Given the description of an element on the screen output the (x, y) to click on. 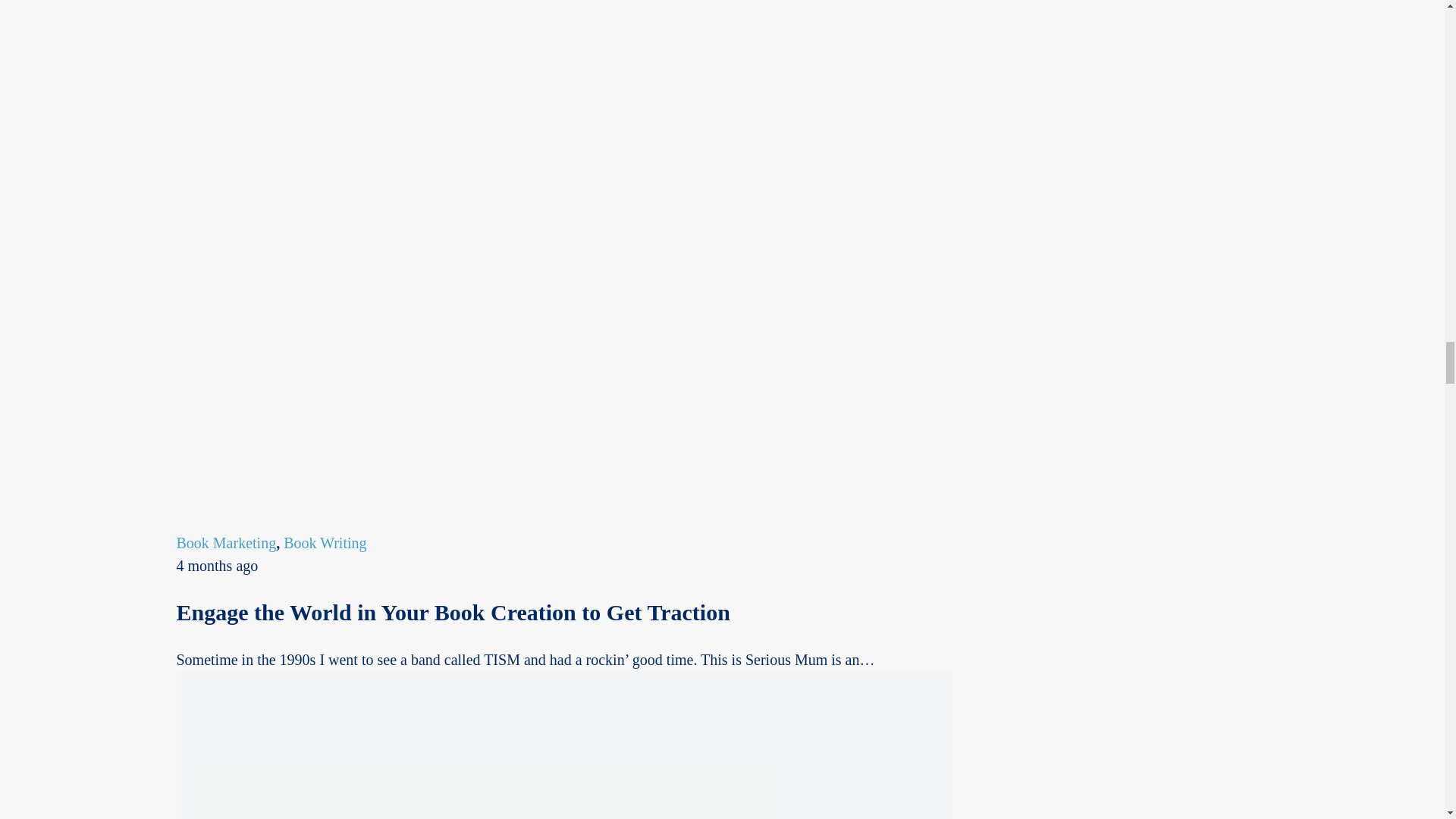
Book Marketing (226, 542)
